Given the description of an element on the screen output the (x, y) to click on. 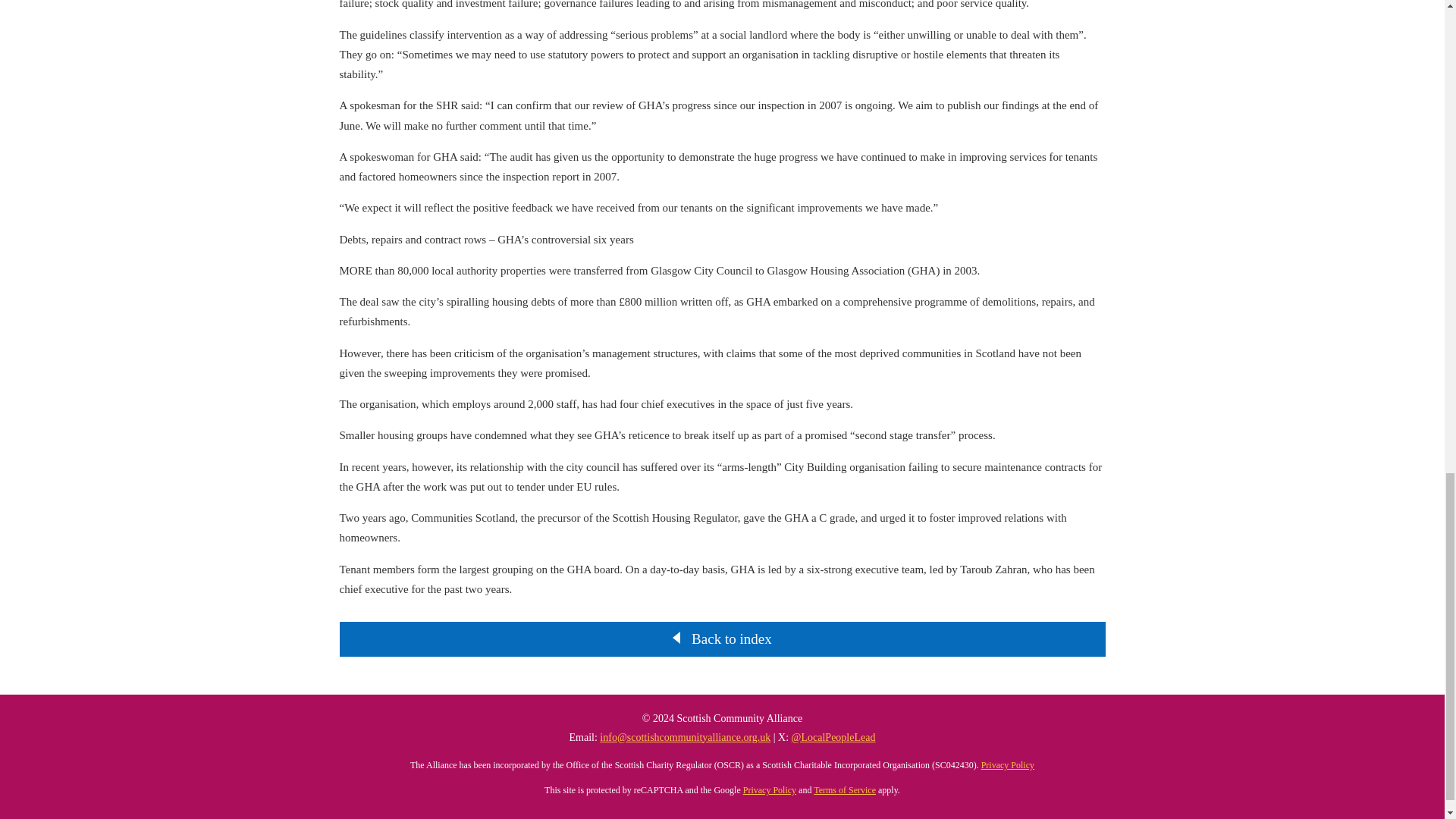
Privacy Policy (769, 789)
Back to index (731, 638)
Privacy Policy (1007, 765)
